Given the description of an element on the screen output the (x, y) to click on. 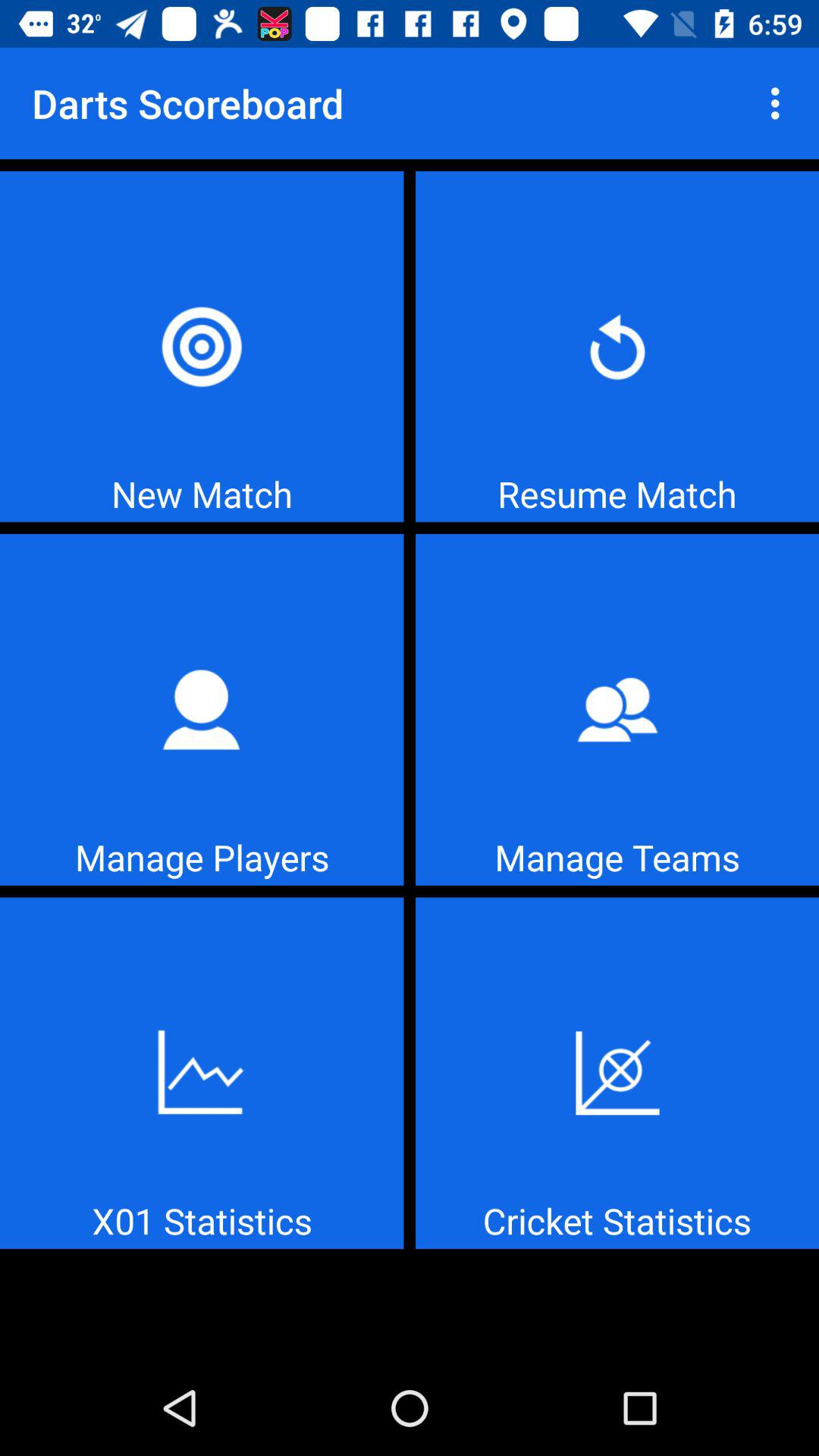
select icon to the right of the darts scoreboard item (779, 103)
